Given the description of an element on the screen output the (x, y) to click on. 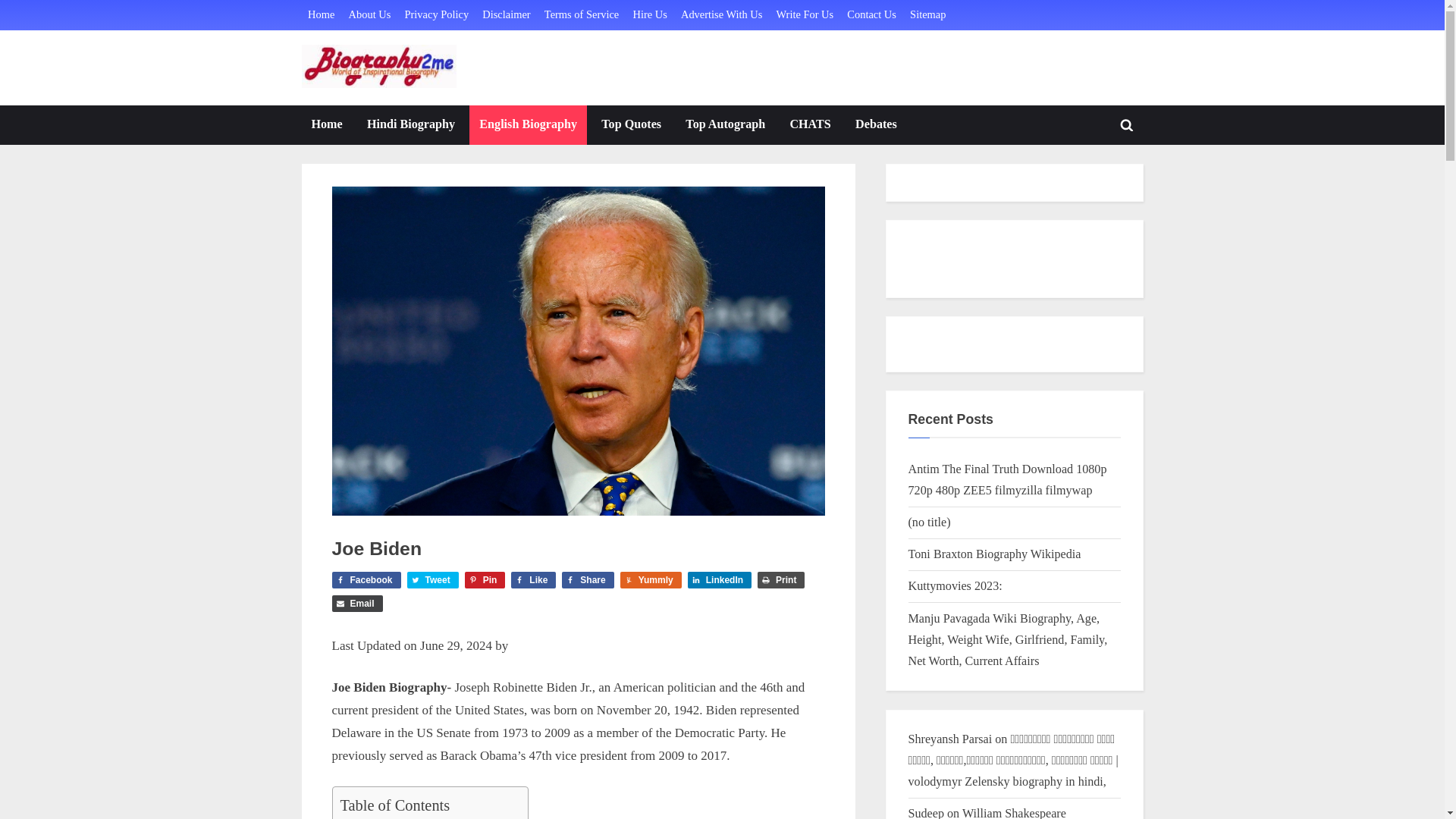
Share on Facebook (587, 579)
Print (781, 579)
Email (356, 603)
Share on LinkedIn (719, 579)
Toggle search form (1126, 124)
Write For Us (805, 15)
Yummly (650, 579)
Share on Pinterest (484, 579)
LinkedIn (719, 579)
CHATS (809, 124)
Hire Us (648, 15)
Share on Facebook (366, 579)
Hindi Biography (410, 124)
Print this Page (781, 579)
Top Quotes (631, 124)
